Given the description of an element on the screen output the (x, y) to click on. 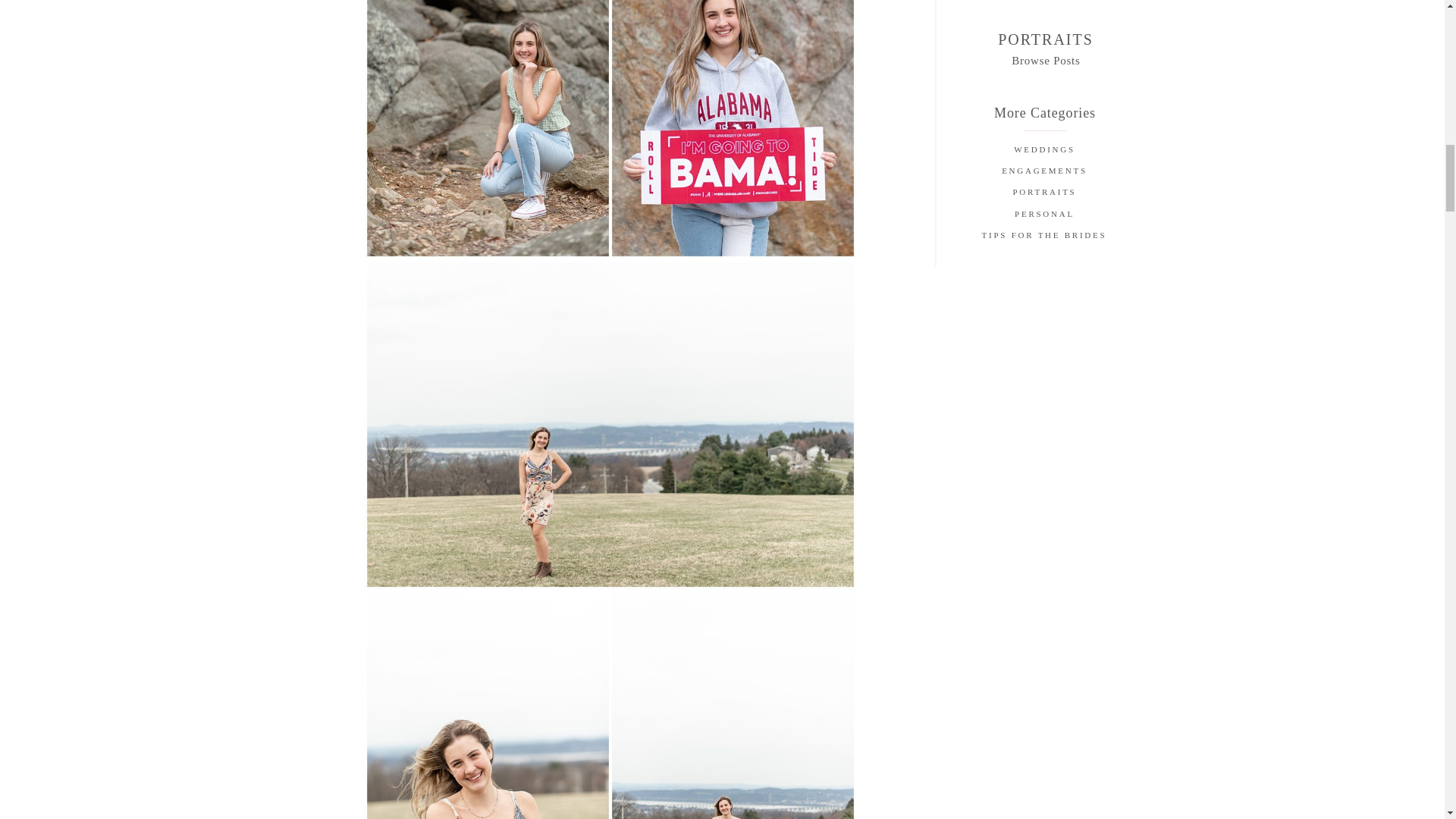
PORTRAITS (1043, 194)
PERSONAL (1043, 216)
ENGAGEMENTS (1043, 172)
Browse Posts (1046, 59)
WEDDINGS (1043, 151)
TIPS FOR THE BRIDES (1044, 237)
PORTRAITS (1044, 38)
